Given the description of an element on the screen output the (x, y) to click on. 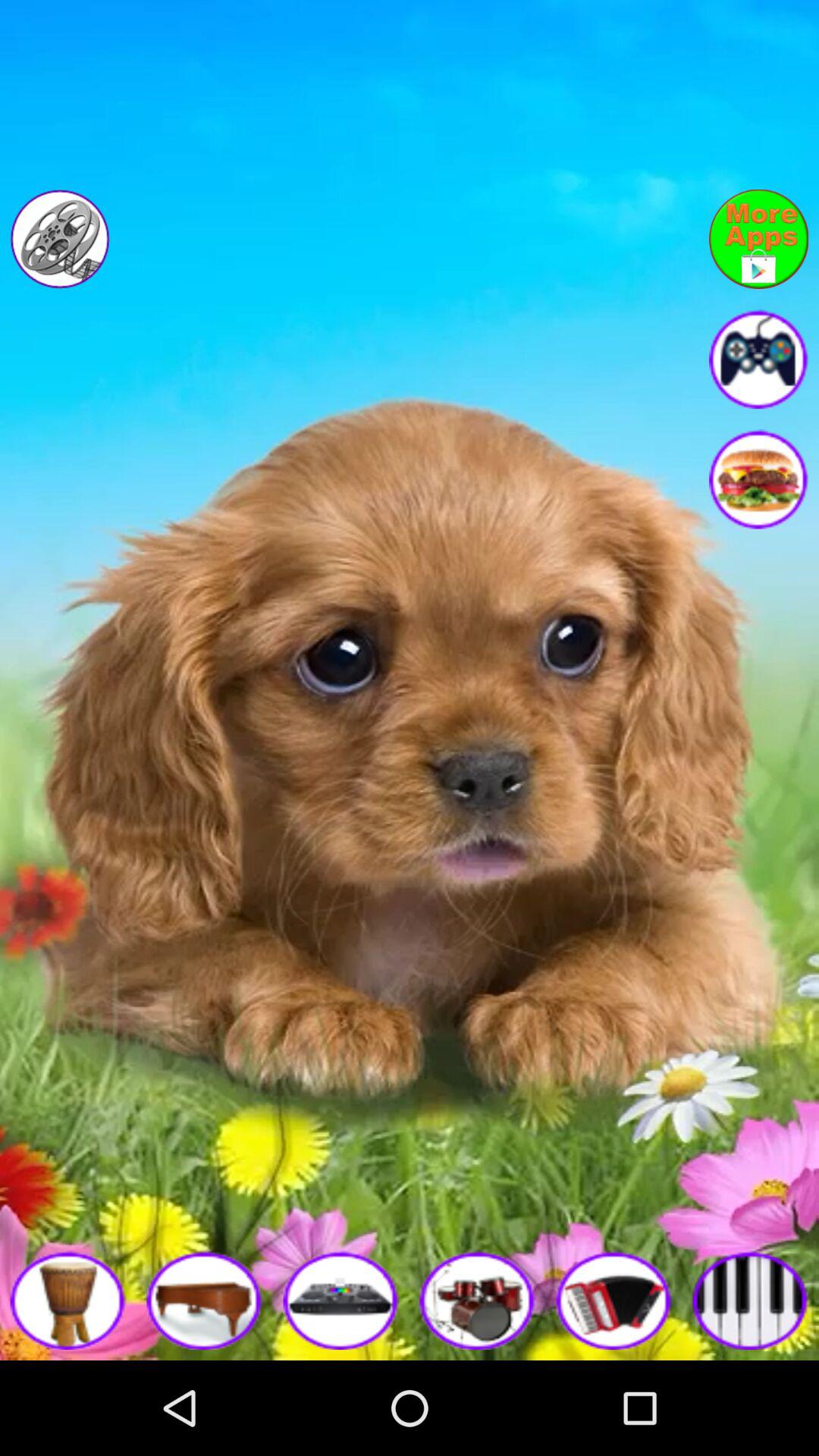
link to playstore to check more apps (758, 238)
